Given the description of an element on the screen output the (x, y) to click on. 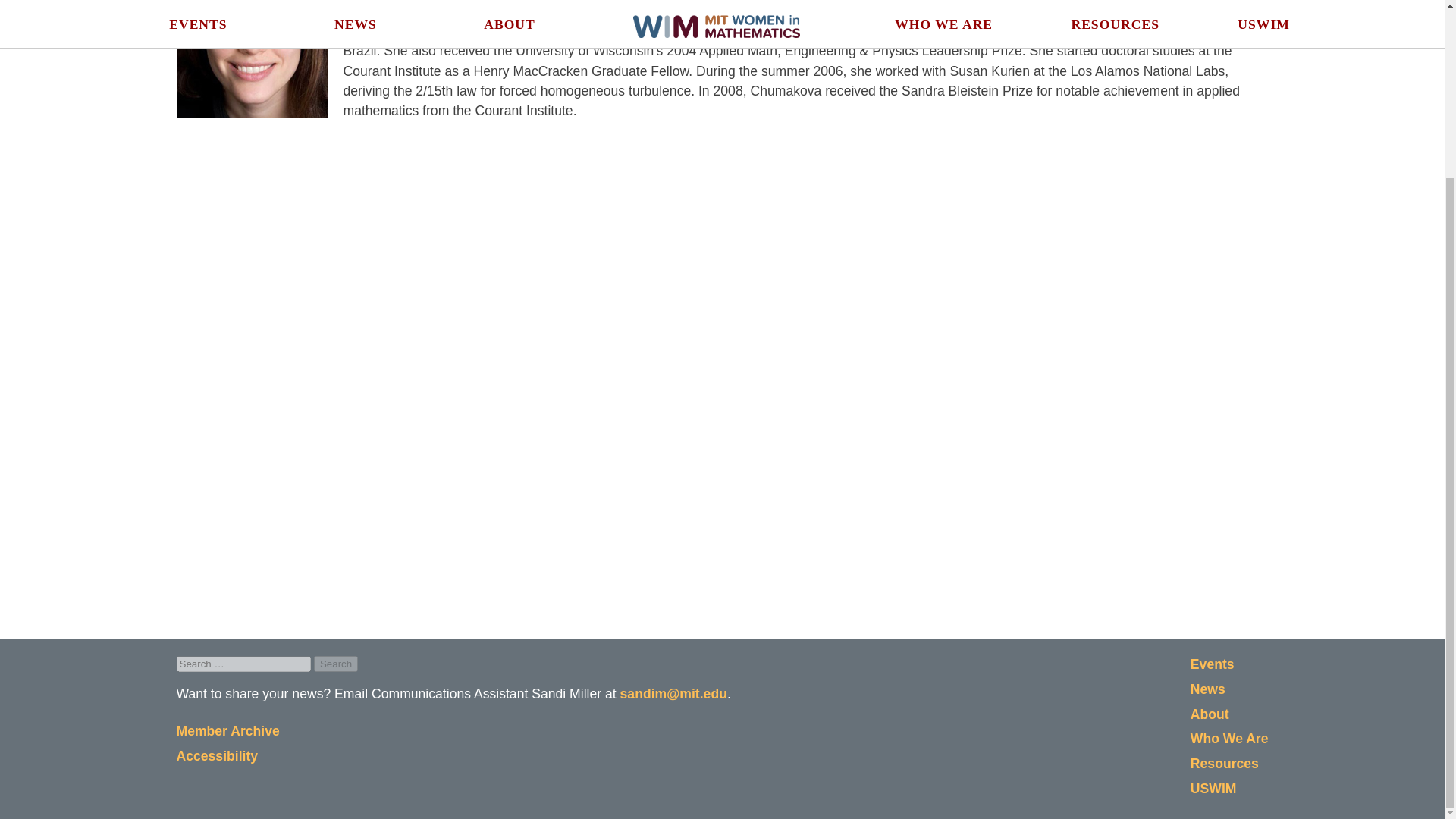
News (1208, 688)
About (1209, 713)
USWIM (1213, 788)
Search (336, 663)
Resources (1225, 763)
Events (1212, 663)
Search (336, 663)
Who We Are (1229, 738)
Search (336, 663)
Accessibility (216, 755)
Member Archive (227, 730)
